Given the description of an element on the screen output the (x, y) to click on. 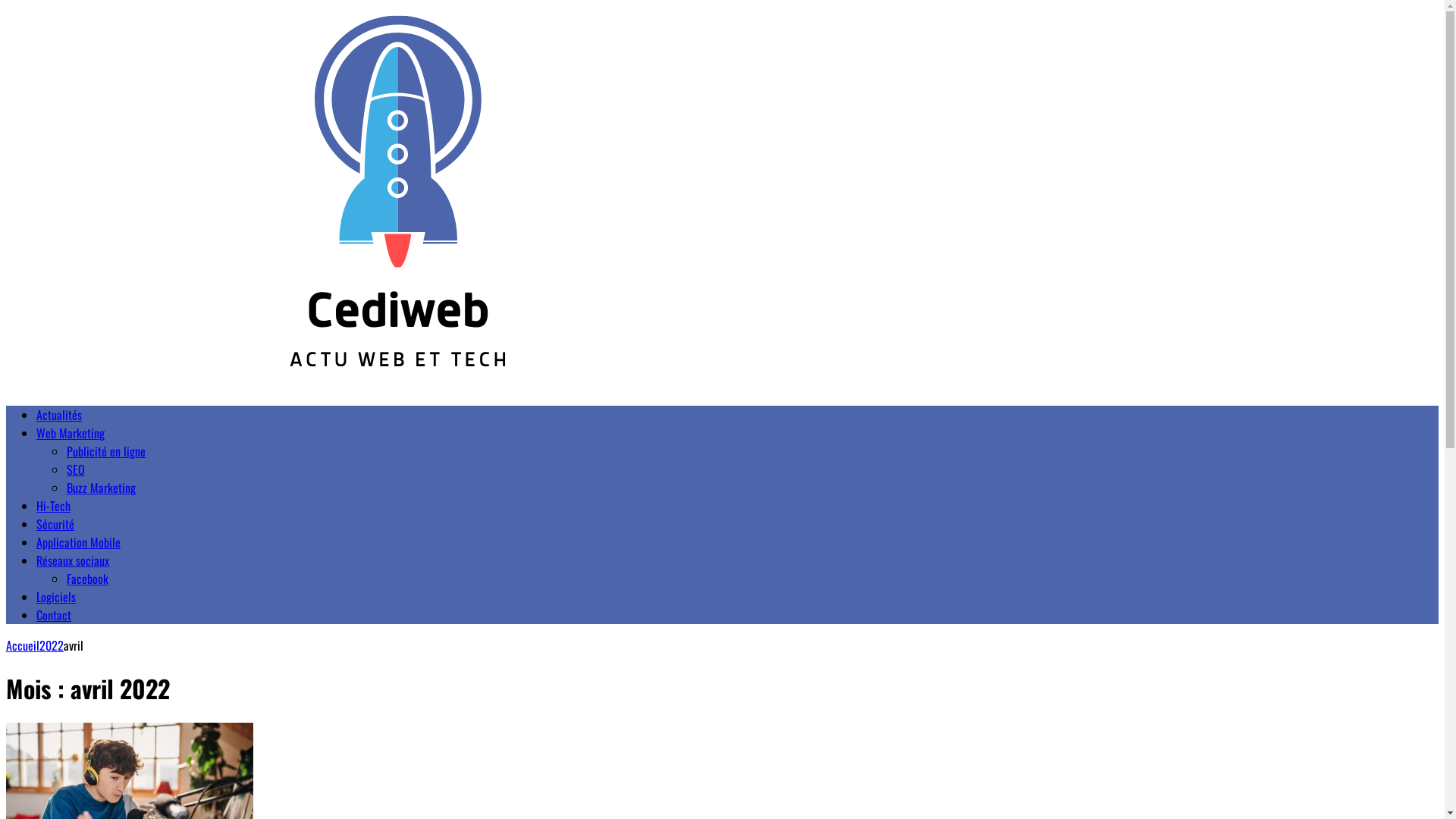
Facebook Element type: text (87, 578)
2022 Element type: text (51, 645)
Accueil Element type: text (22, 645)
SEO Element type: text (75, 469)
Hi-Tech Element type: text (53, 505)
Web Marketing Element type: text (70, 432)
Buzz Marketing Element type: text (100, 487)
Contact Element type: text (53, 614)
Application Mobile Element type: text (78, 542)
Logiciels Element type: text (55, 596)
